Given the description of an element on the screen output the (x, y) to click on. 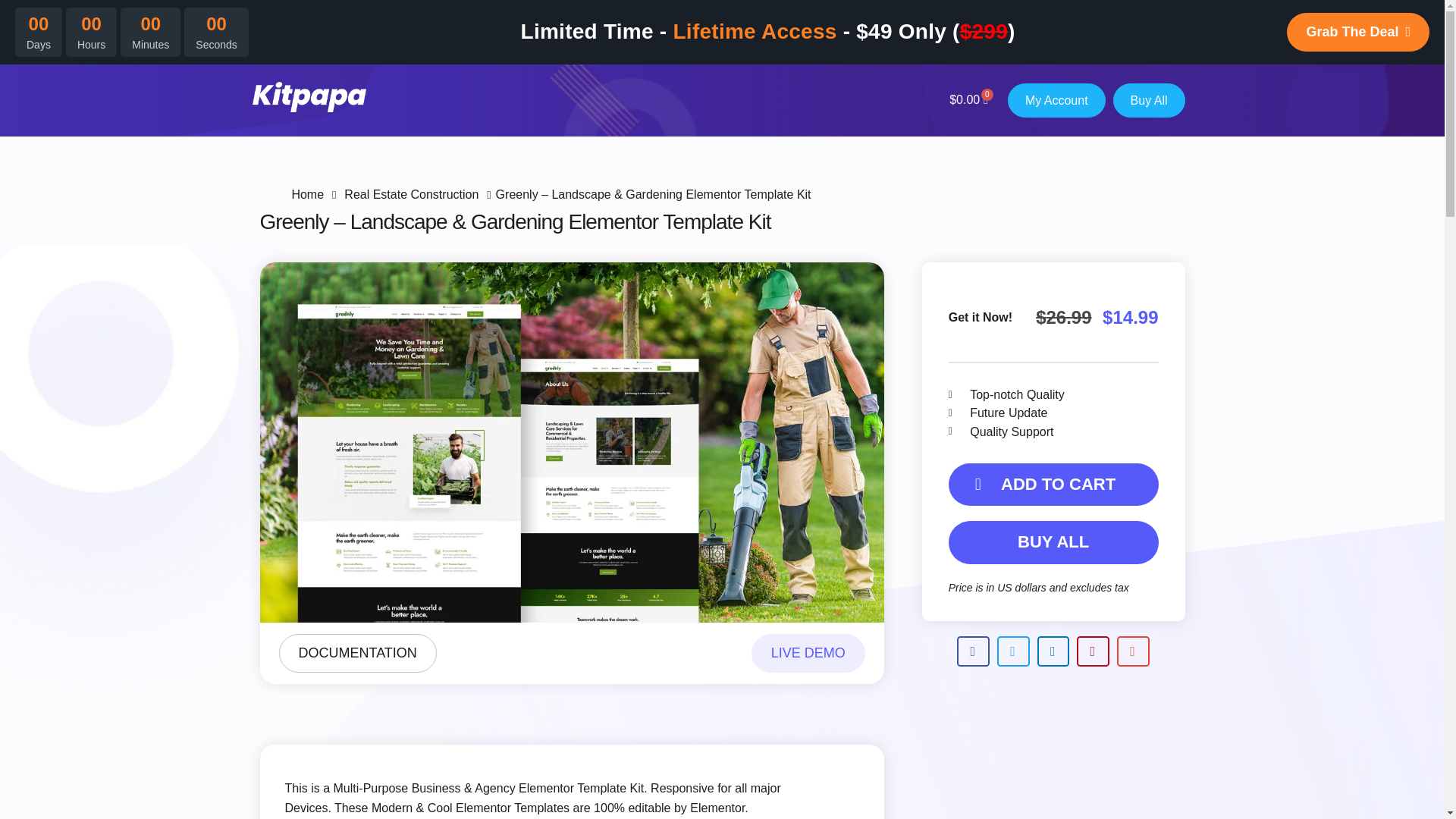
BUY ALL (1053, 541)
Home (309, 194)
Real Estate Construction (410, 194)
DOCUMENTATION (357, 653)
My Account (1056, 100)
Grab The Deal (1363, 30)
ADD TO CART (1053, 484)
LIVE DEMO (807, 653)
Buy All (1149, 100)
